Given the description of an element on the screen output the (x, y) to click on. 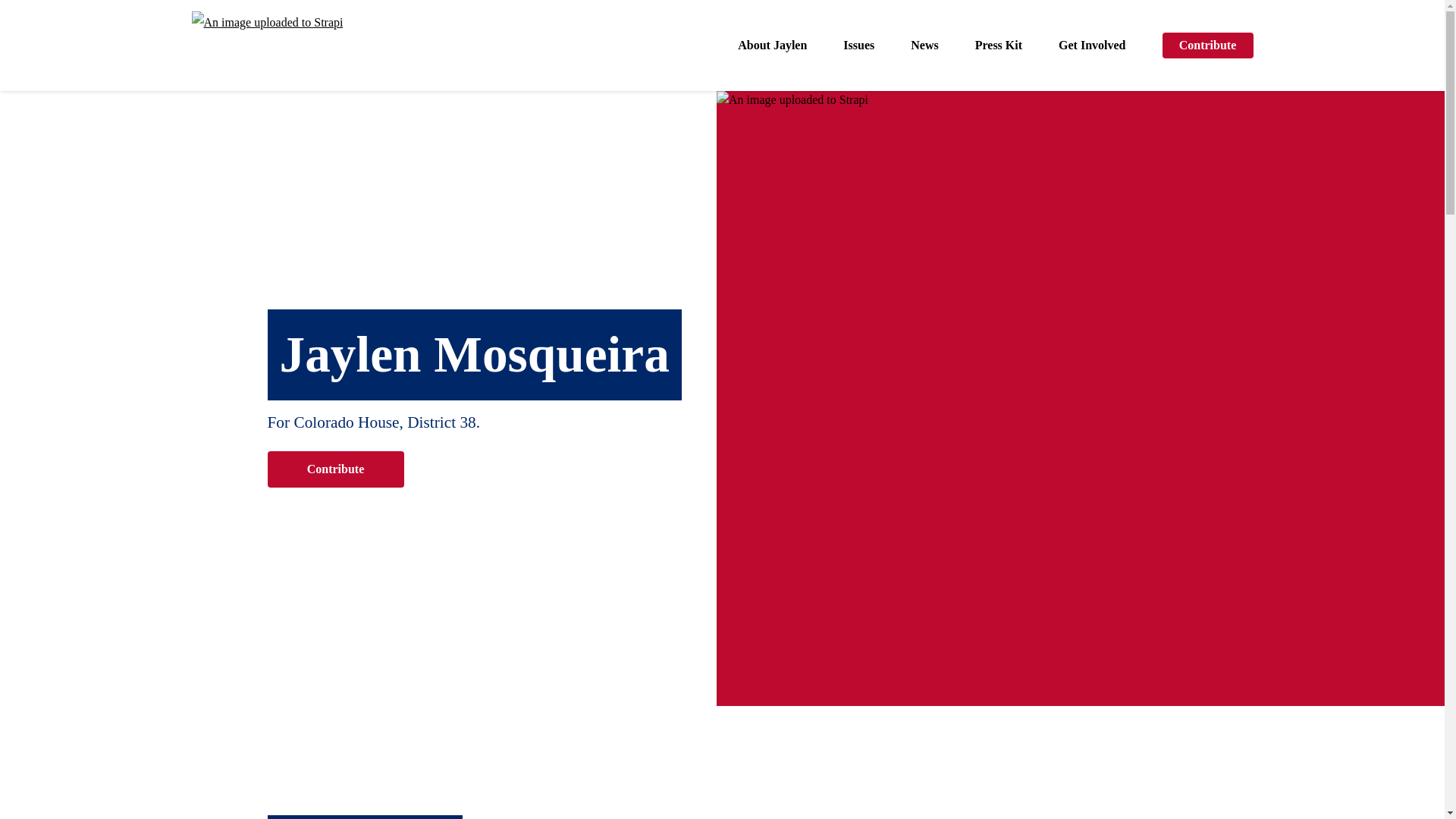
Contribute (1206, 45)
Contribute (334, 469)
Press Kit (998, 45)
About Jaylen (772, 45)
News (924, 45)
Issues (859, 45)
Get Involved (1091, 45)
